Given the description of an element on the screen output the (x, y) to click on. 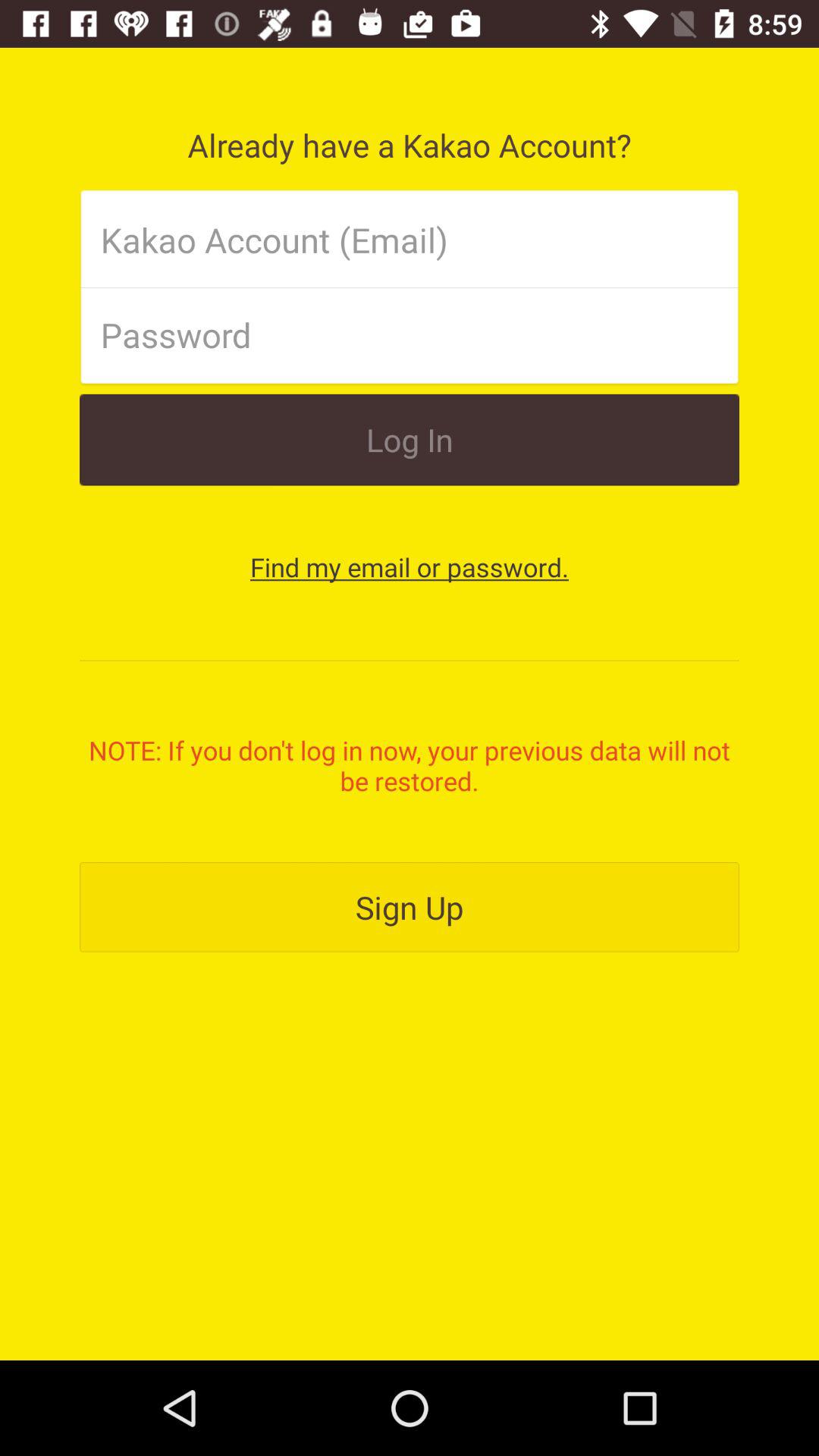
scroll to note if you (409, 765)
